Given the description of an element on the screen output the (x, y) to click on. 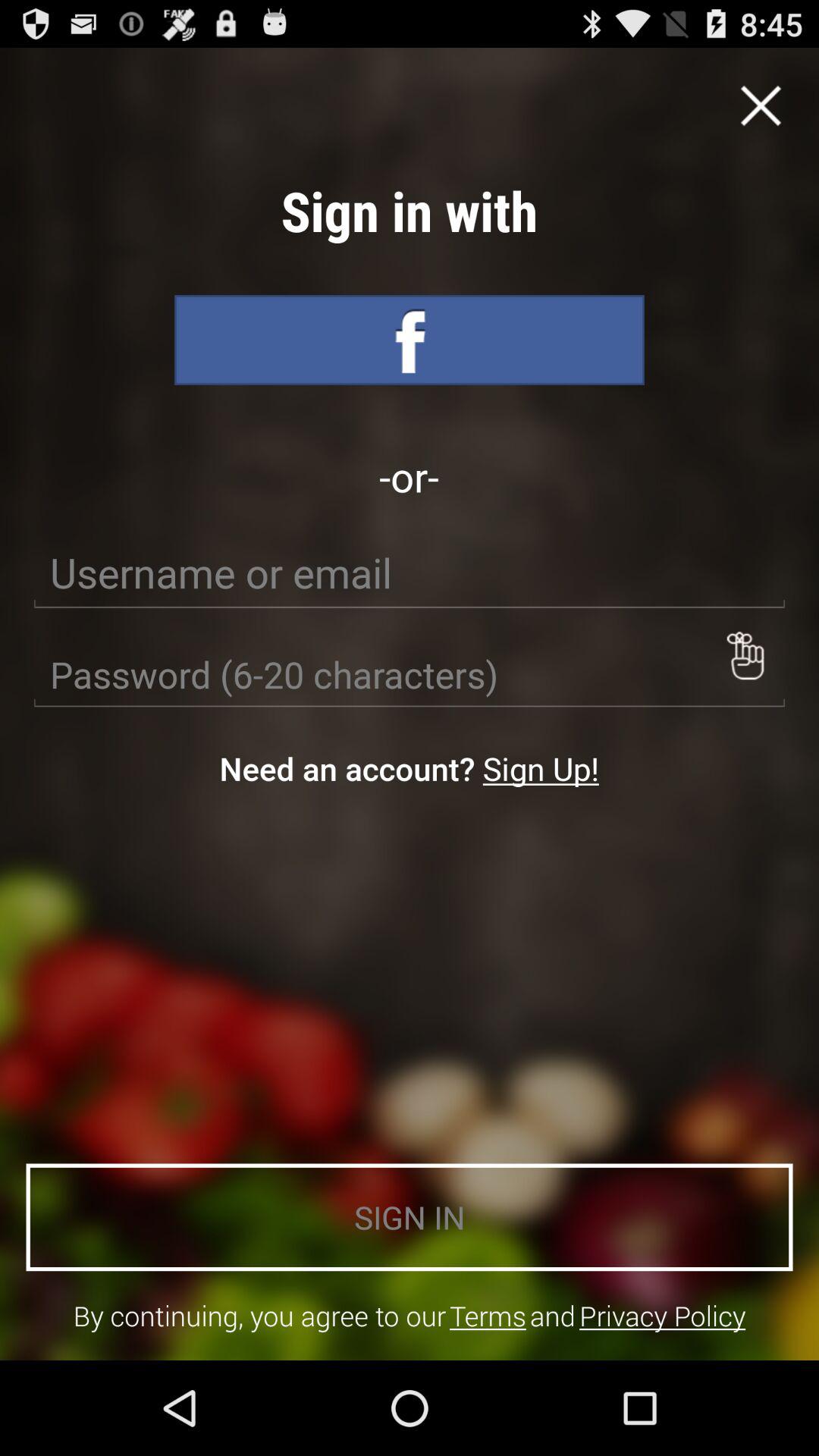
sign in (409, 340)
